Given the description of an element on the screen output the (x, y) to click on. 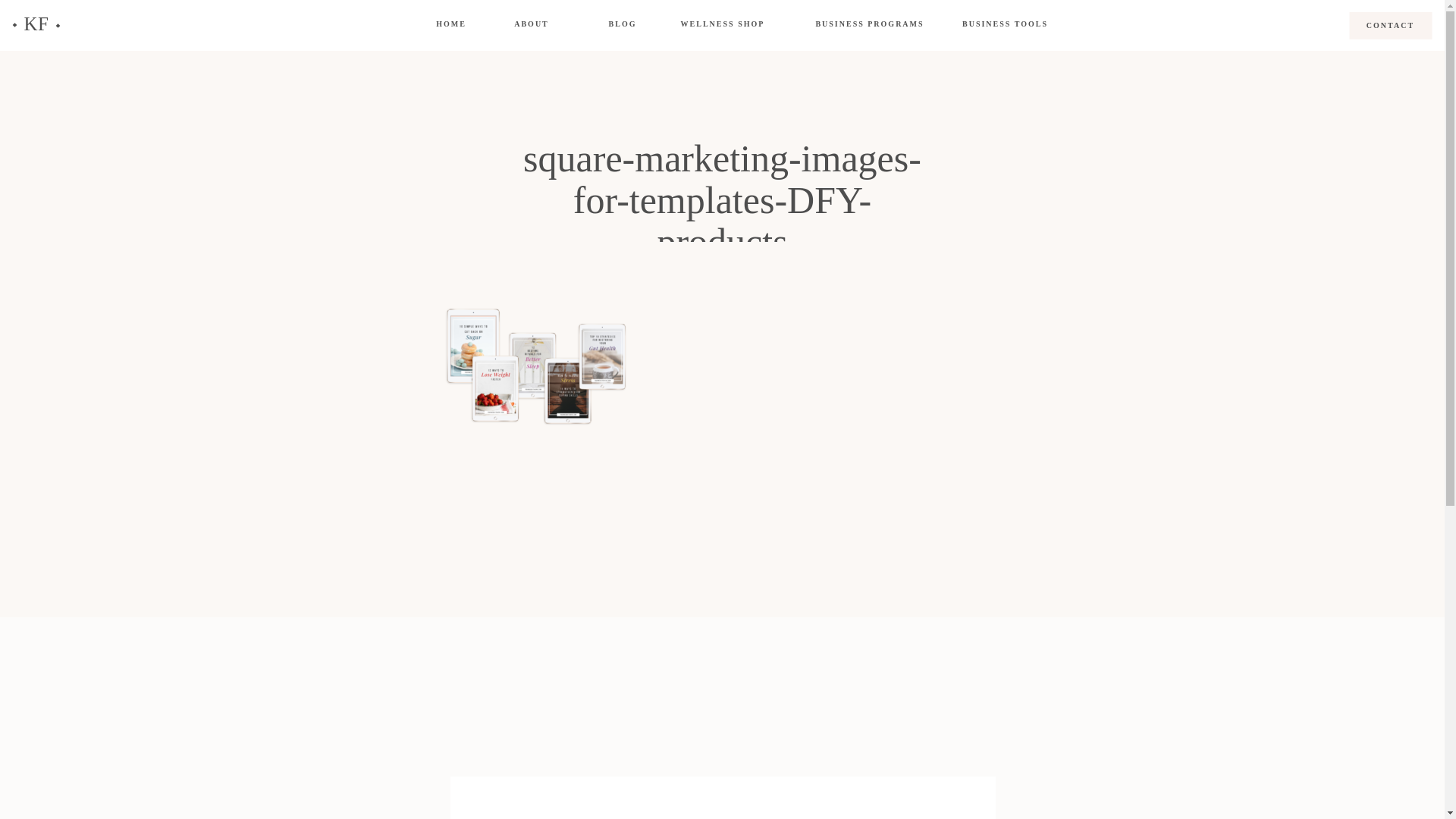
CONTACT (1389, 24)
BLOG (622, 24)
ABOUT (532, 24)
BUSINESS TOOLS (1005, 24)
KF (36, 25)
HOME (452, 24)
WELLNESS SHOP (721, 24)
BUSINESS PROGRAMS (868, 24)
